Given the description of an element on the screen output the (x, y) to click on. 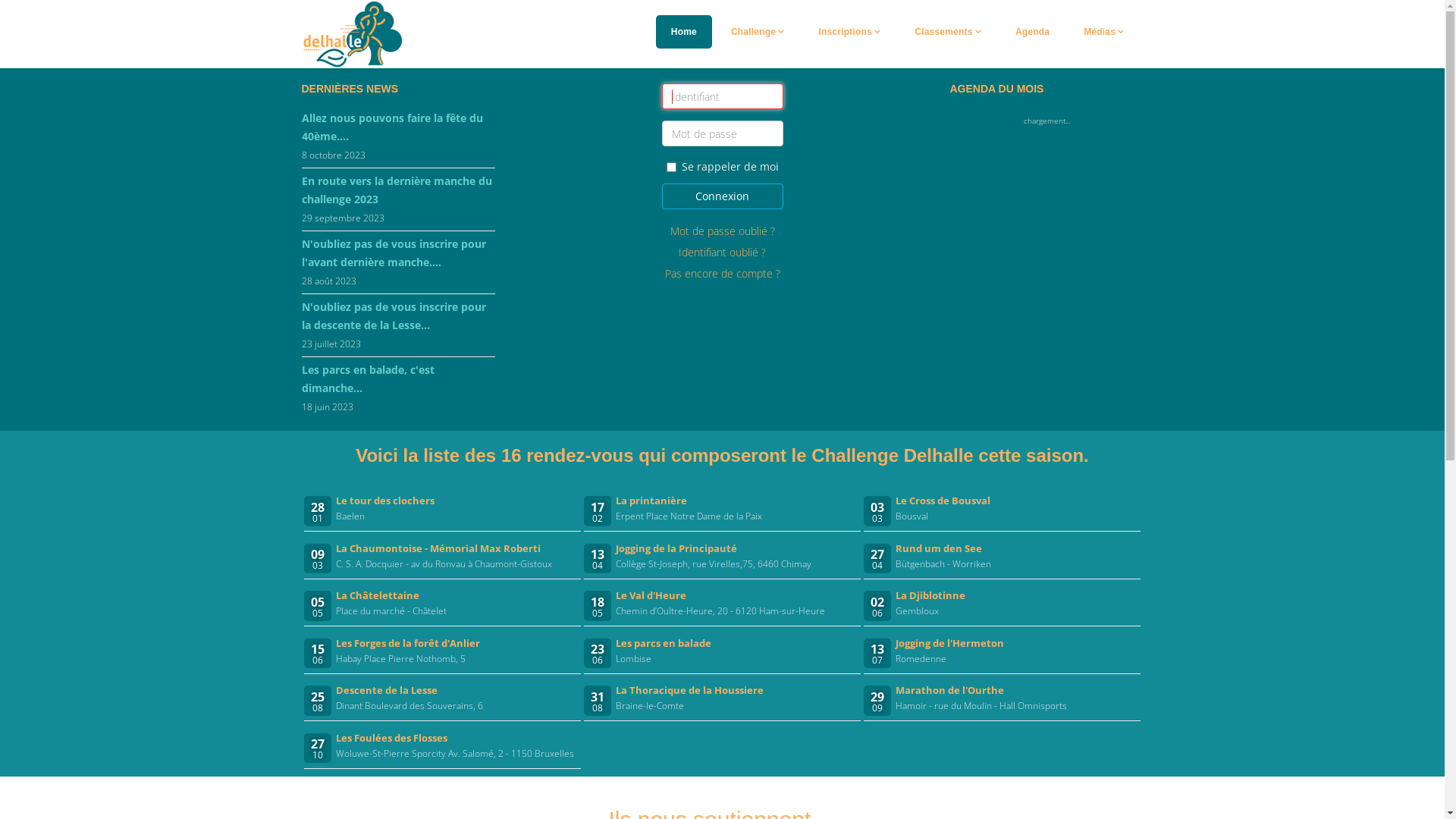
Les parcs en balade Element type: text (663, 642)
Pas encore de compte ? Element type: text (721, 273)
Rund um den See Element type: text (938, 548)
Le Cross de Bousval Element type: text (942, 500)
La Djiblotinne Element type: text (930, 595)
Home Element type: text (683, 31)
Classements Element type: text (947, 31)
Les parcs en balade, c'est dimanche... Element type: text (398, 378)
Marathon de l'Ourthe Element type: text (949, 689)
Descente de la Lesse Element type: text (386, 689)
Agenda Element type: text (1032, 31)
La Thoracique de la Houssiere Element type: text (689, 689)
Le tour des clochers Element type: text (384, 500)
Jogging de l'Hermeton Element type: text (949, 642)
Le Val d'Heure Element type: text (650, 595)
Inscriptions Element type: text (849, 31)
Connexion Element type: text (721, 196)
Challenge Element type: text (757, 31)
